Given the description of an element on the screen output the (x, y) to click on. 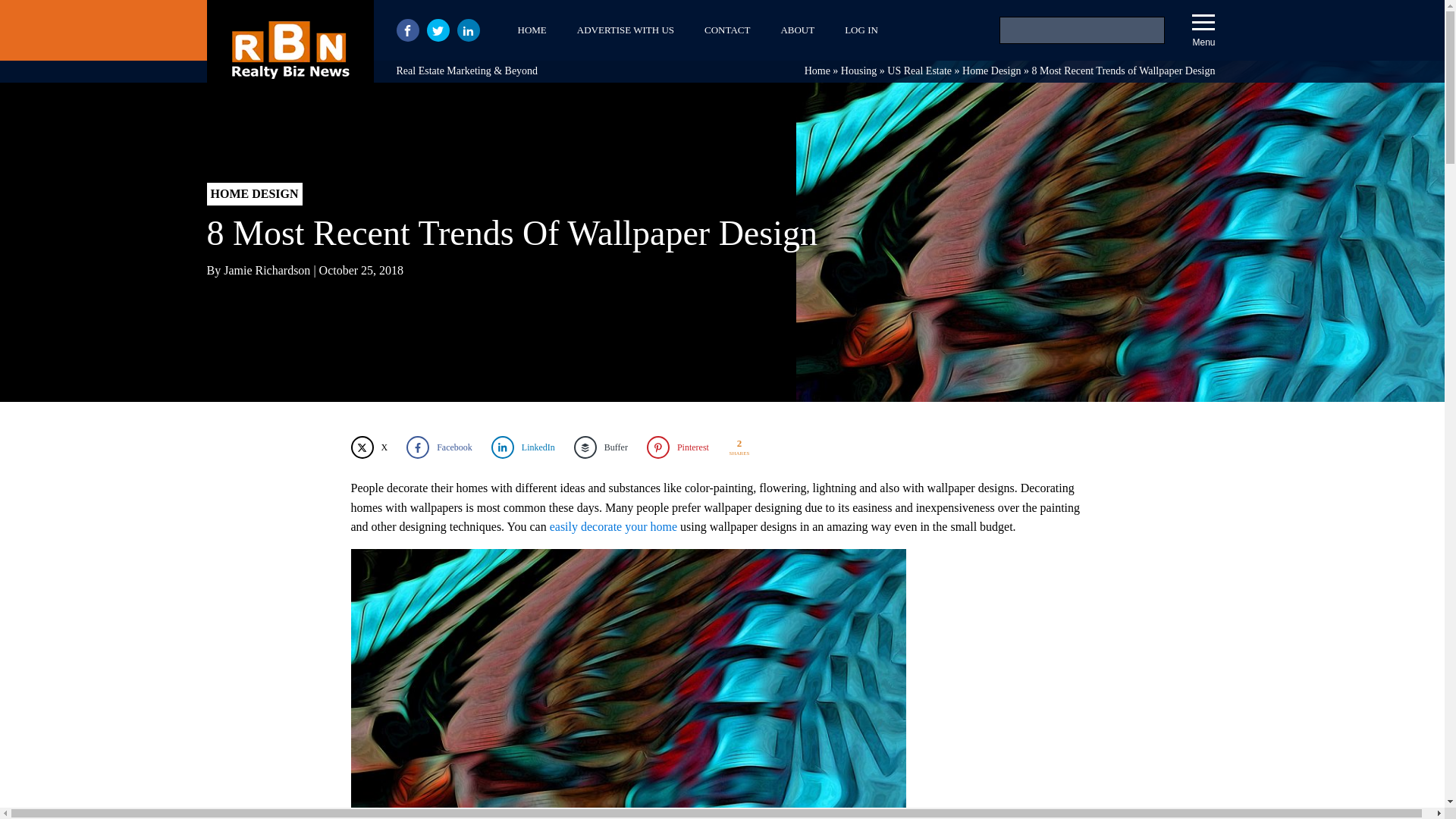
US Real Estate (919, 70)
Search (31, 13)
Home (817, 70)
CONTACT (726, 30)
HOME (531, 30)
Housing (858, 70)
LOG IN (861, 30)
ABOUT (797, 30)
Home Design (991, 70)
US Real Estate (919, 70)
Home Design (991, 70)
Home (817, 70)
ADVERTISE WITH US (625, 30)
Housing (858, 70)
